Given the description of an element on the screen output the (x, y) to click on. 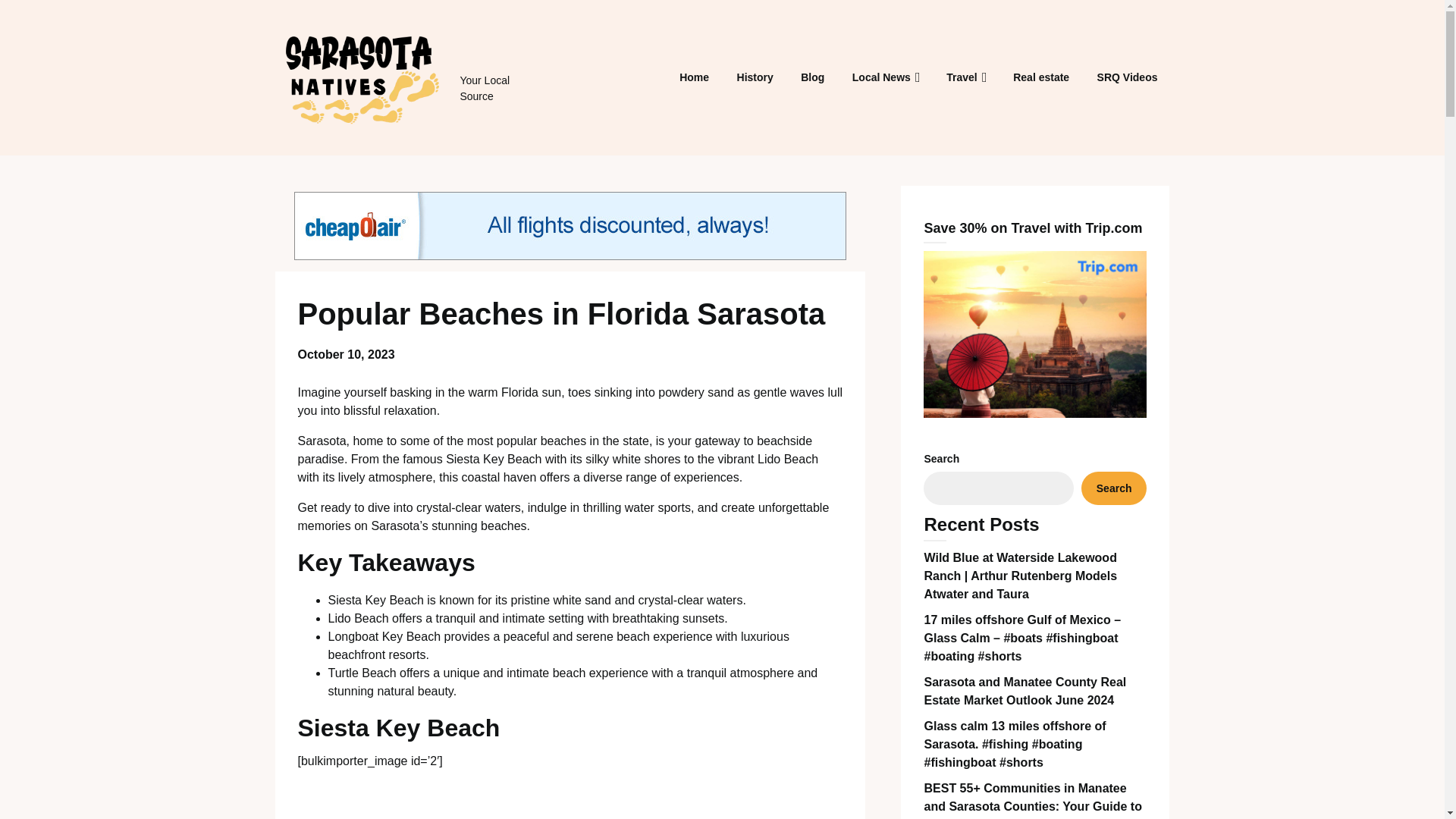
History (755, 77)
Travel (961, 77)
Local News (881, 77)
Blog (812, 77)
Real estate (1041, 77)
Home (693, 77)
SRQ Videos (1127, 77)
October 10, 2023 (345, 354)
